Given the description of an element on the screen output the (x, y) to click on. 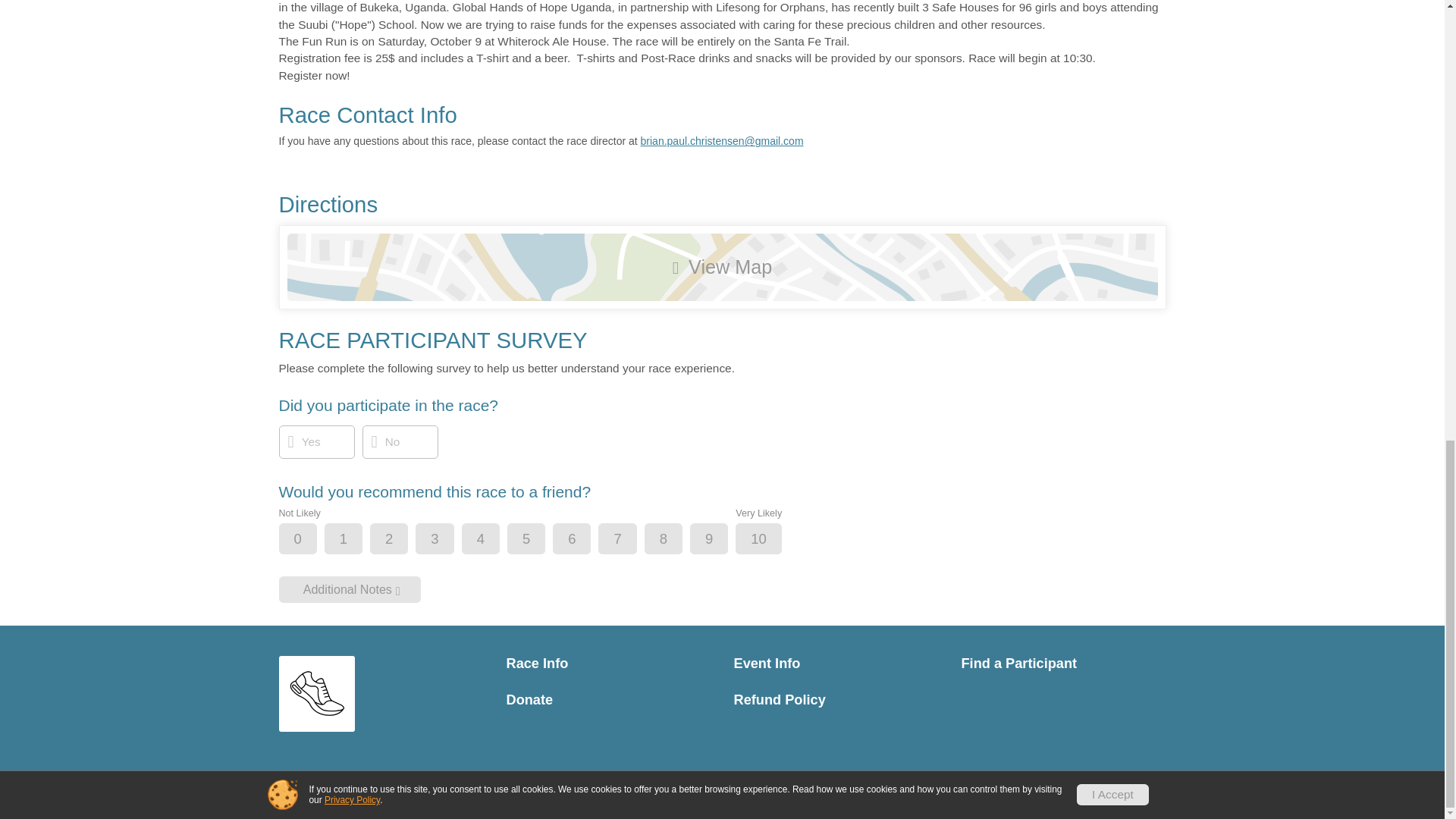
10 (770, 539)
0 (310, 539)
Additional Notes (349, 589)
2 (401, 539)
Race Info (608, 663)
Find a Participant (1063, 663)
7 (629, 539)
6 (584, 539)
1 (355, 539)
8 (675, 539)
Donate (608, 700)
5 (539, 539)
3 (447, 539)
4 (493, 539)
View Map (721, 267)
